Given the description of an element on the screen output the (x, y) to click on. 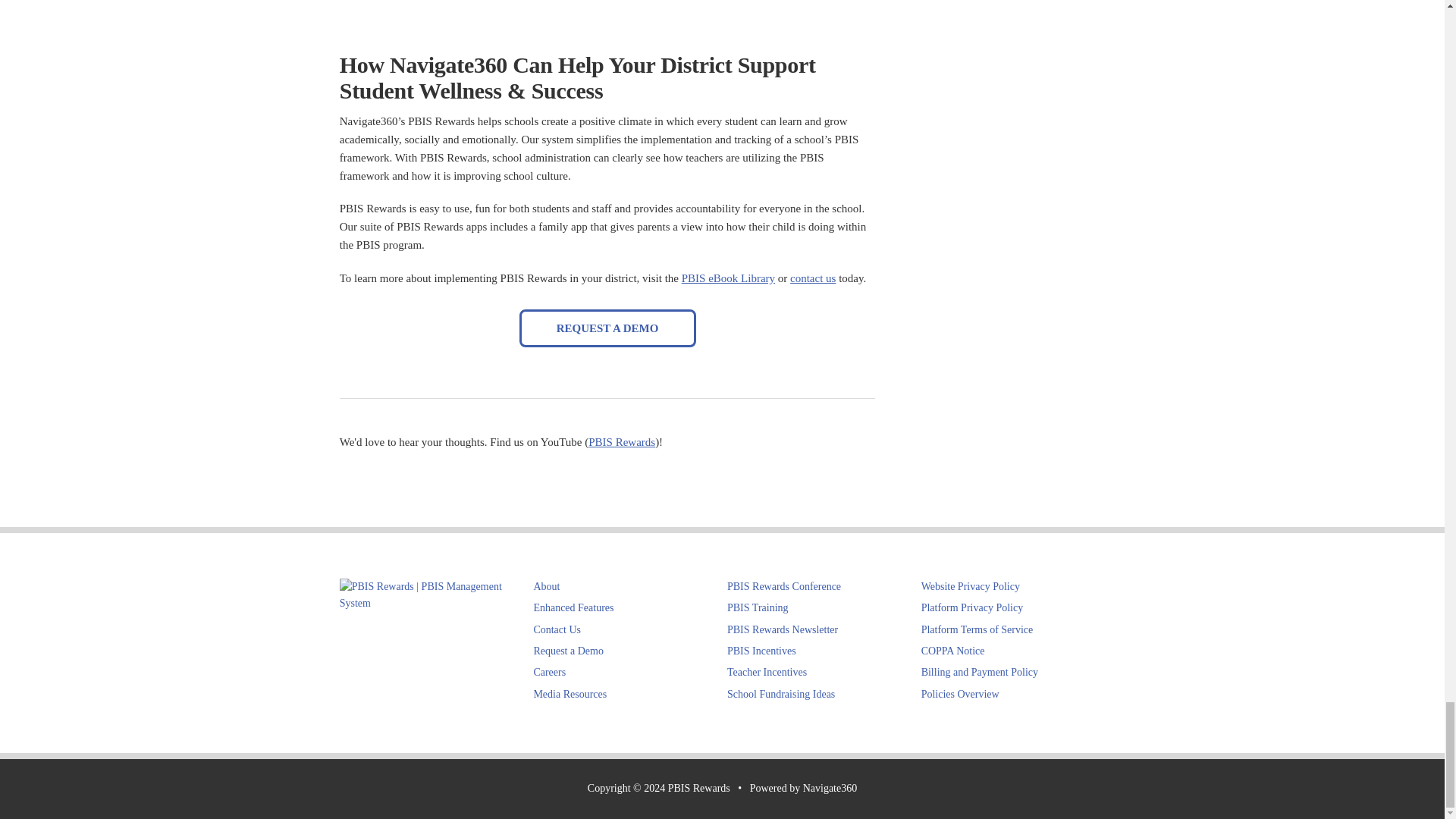
Contact PBIS Rewards (556, 629)
PBIS Rewards on YouTube (621, 441)
